Given the description of an element on the screen output the (x, y) to click on. 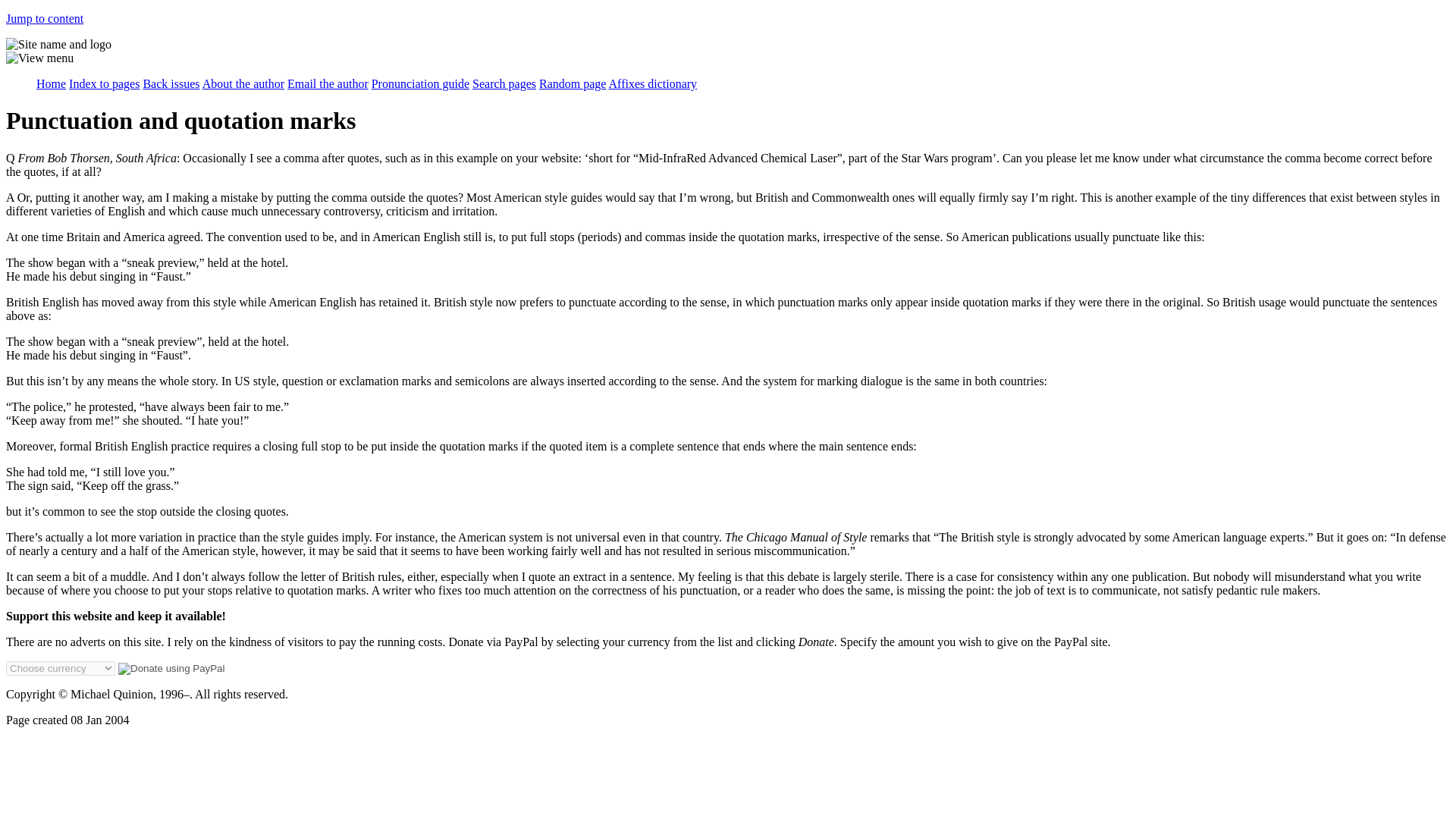
Random page (571, 83)
Affixes dictionary (652, 83)
Pronunciation guide (419, 83)
Home (50, 83)
Index to pages (103, 83)
Search pages (503, 83)
About the author (242, 83)
Back issues (170, 83)
Email the author (327, 83)
Jump to content (43, 18)
